Given the description of an element on the screen output the (x, y) to click on. 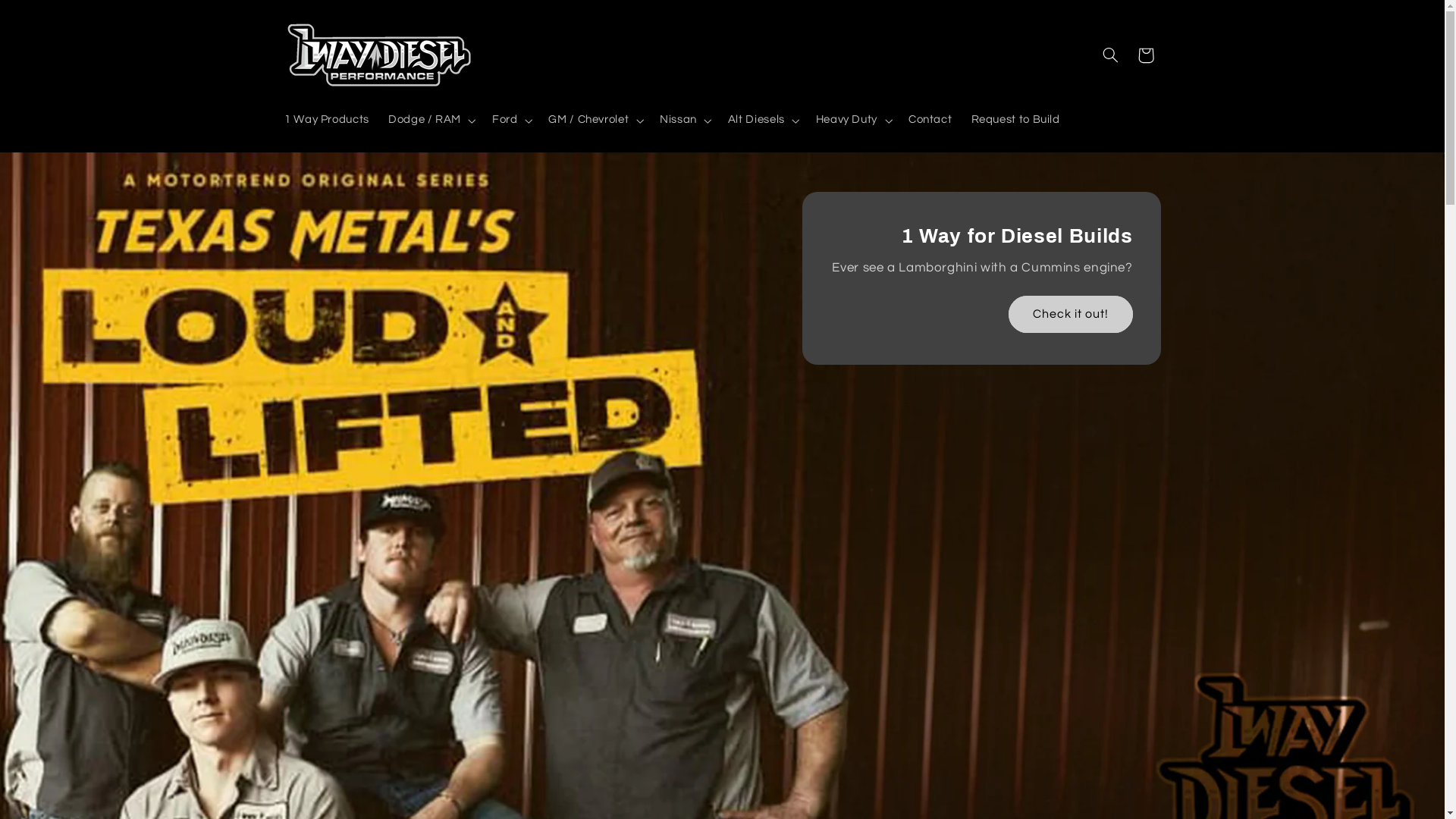
Check it out! Element type: text (1070, 313)
Cart Element type: text (1145, 54)
Contact Element type: text (929, 120)
Request to Build Element type: text (1015, 120)
1 Way Products Element type: text (326, 120)
